Given the description of an element on the screen output the (x, y) to click on. 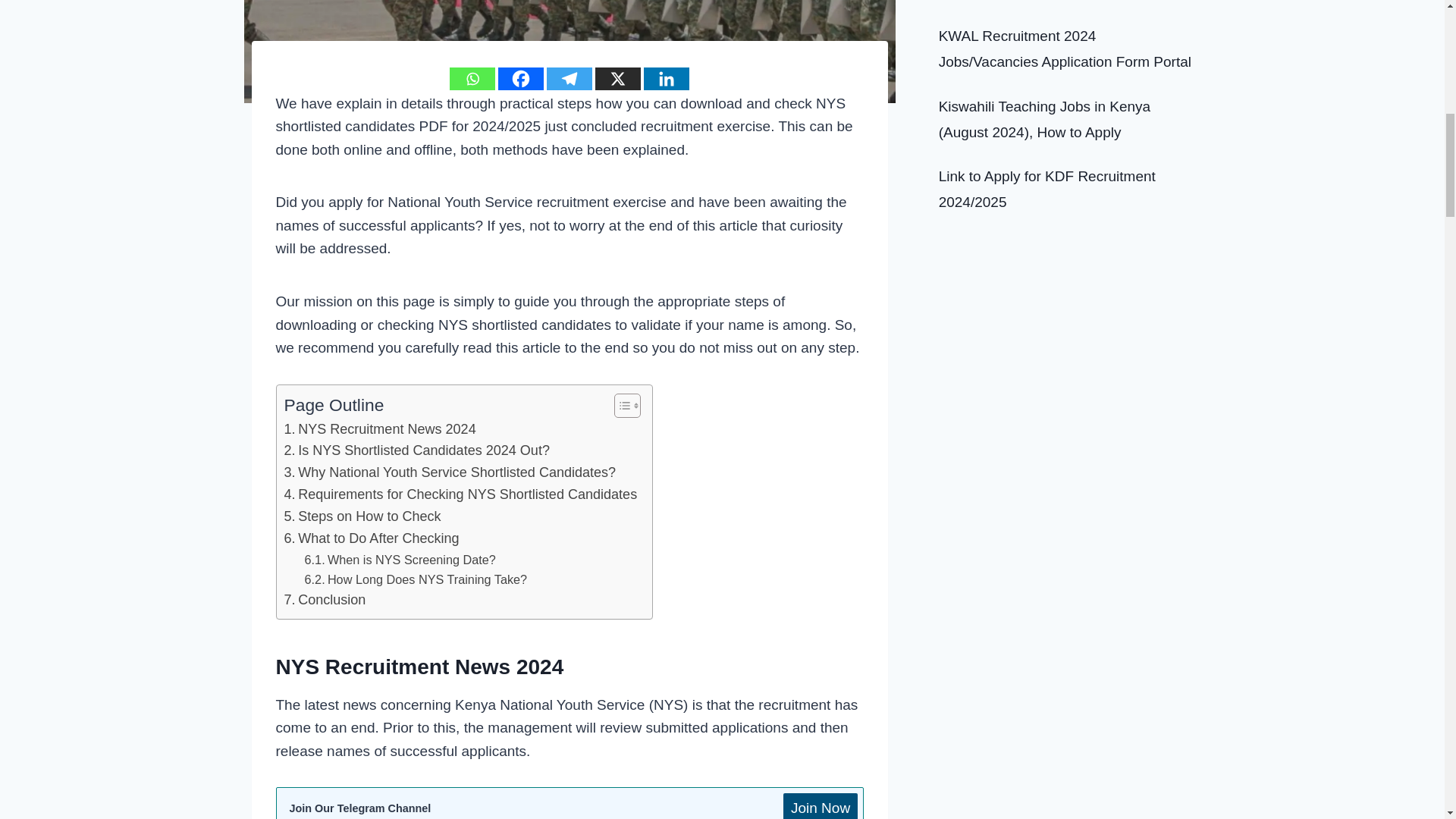
NYS Recruitment News 2024 (379, 429)
Is NYS Shortlisted Candidates 2024 Out? (415, 450)
Conclusion (324, 599)
NYS Recruitment News 2024 (379, 429)
What to Do After Checking (370, 538)
What to Do After Checking (370, 538)
Telegram (569, 78)
When is NYS Screening Date? (400, 559)
Join Now (820, 806)
Whatsapp (472, 78)
